Given the description of an element on the screen output the (x, y) to click on. 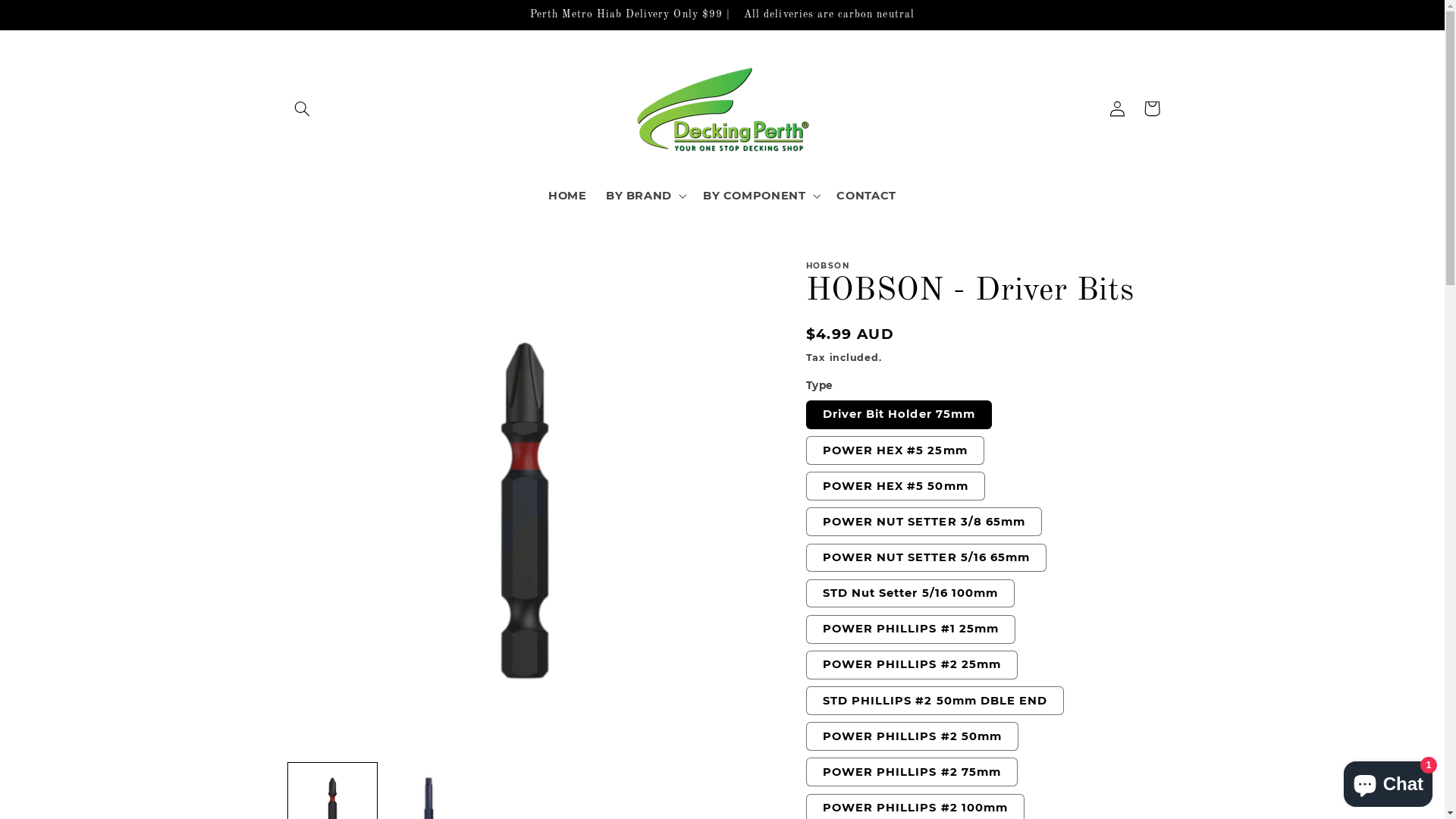
Log in Element type: text (1116, 108)
HOME Element type: text (567, 196)
Shopify online store chat Element type: hover (1388, 780)
Cart Element type: text (1151, 108)
CONTACT Element type: text (866, 196)
Skip to product information Element type: text (331, 279)
